Given the description of an element on the screen output the (x, y) to click on. 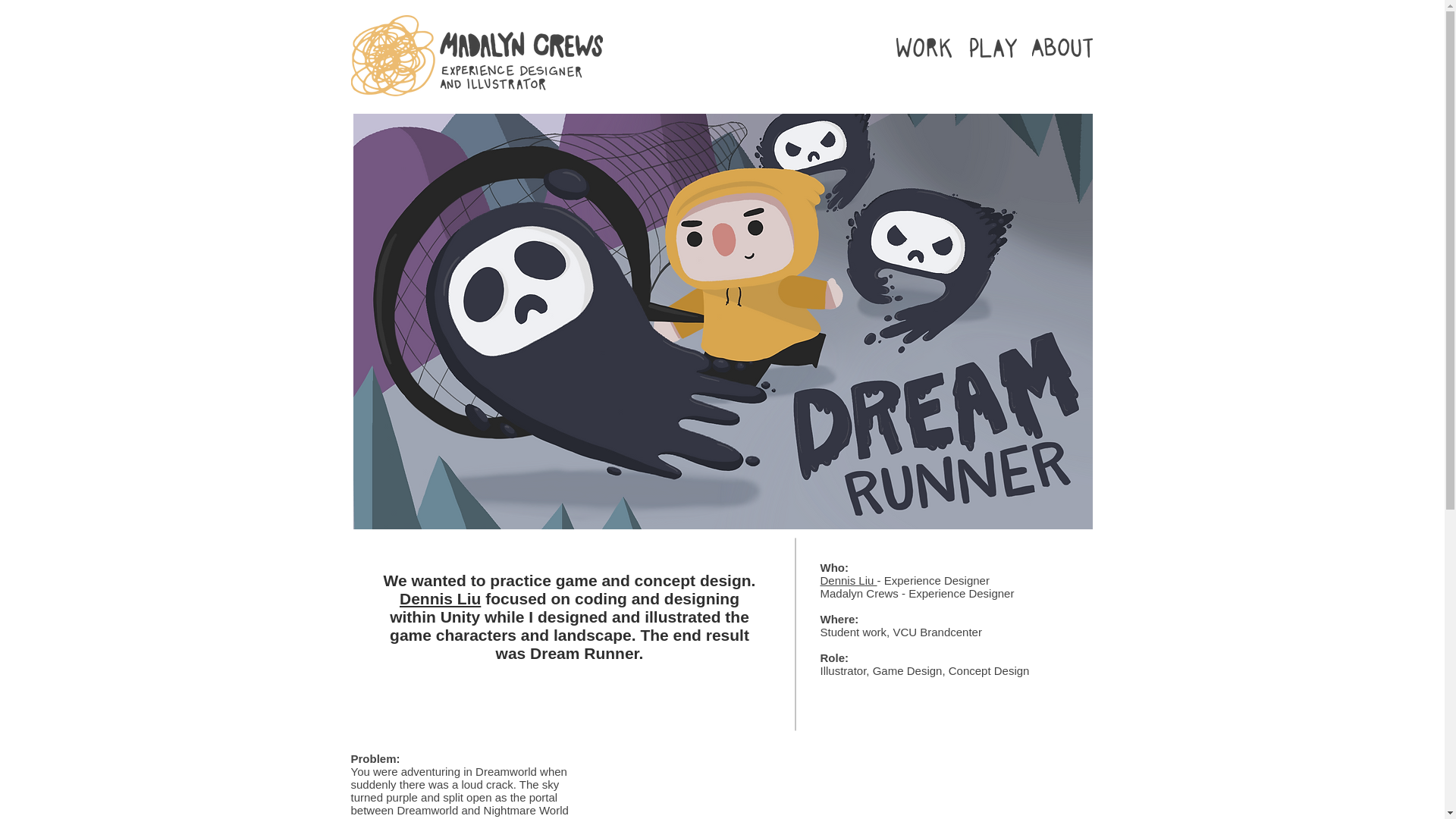
Click to View Work (924, 47)
Click To View Side Hustle (992, 47)
Click to View About Me Page (1061, 47)
Dennis Liu (849, 580)
Dennis Liu (439, 598)
Click to go to Homepage (476, 55)
